Given the description of an element on the screen output the (x, y) to click on. 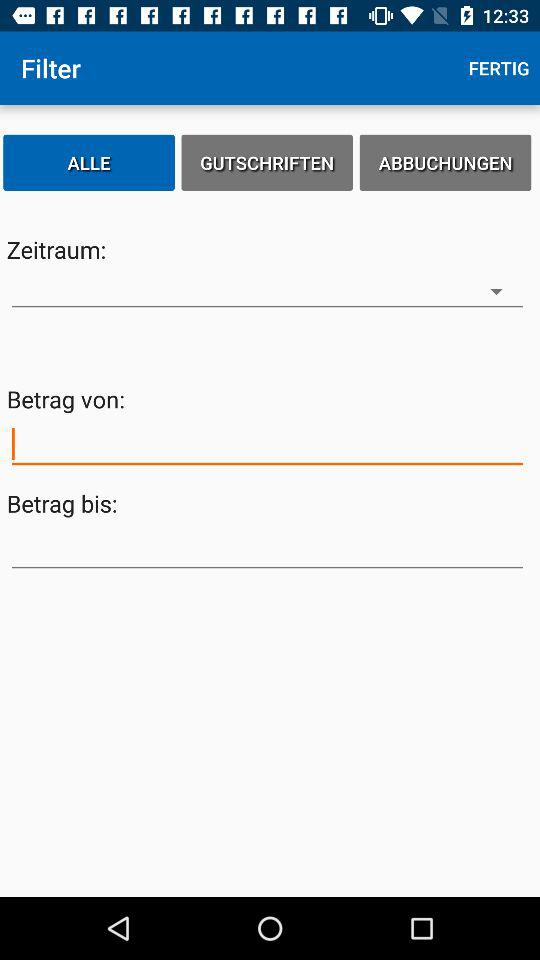
select icon above the zeitraum: icon (89, 162)
